Given the description of an element on the screen output the (x, y) to click on. 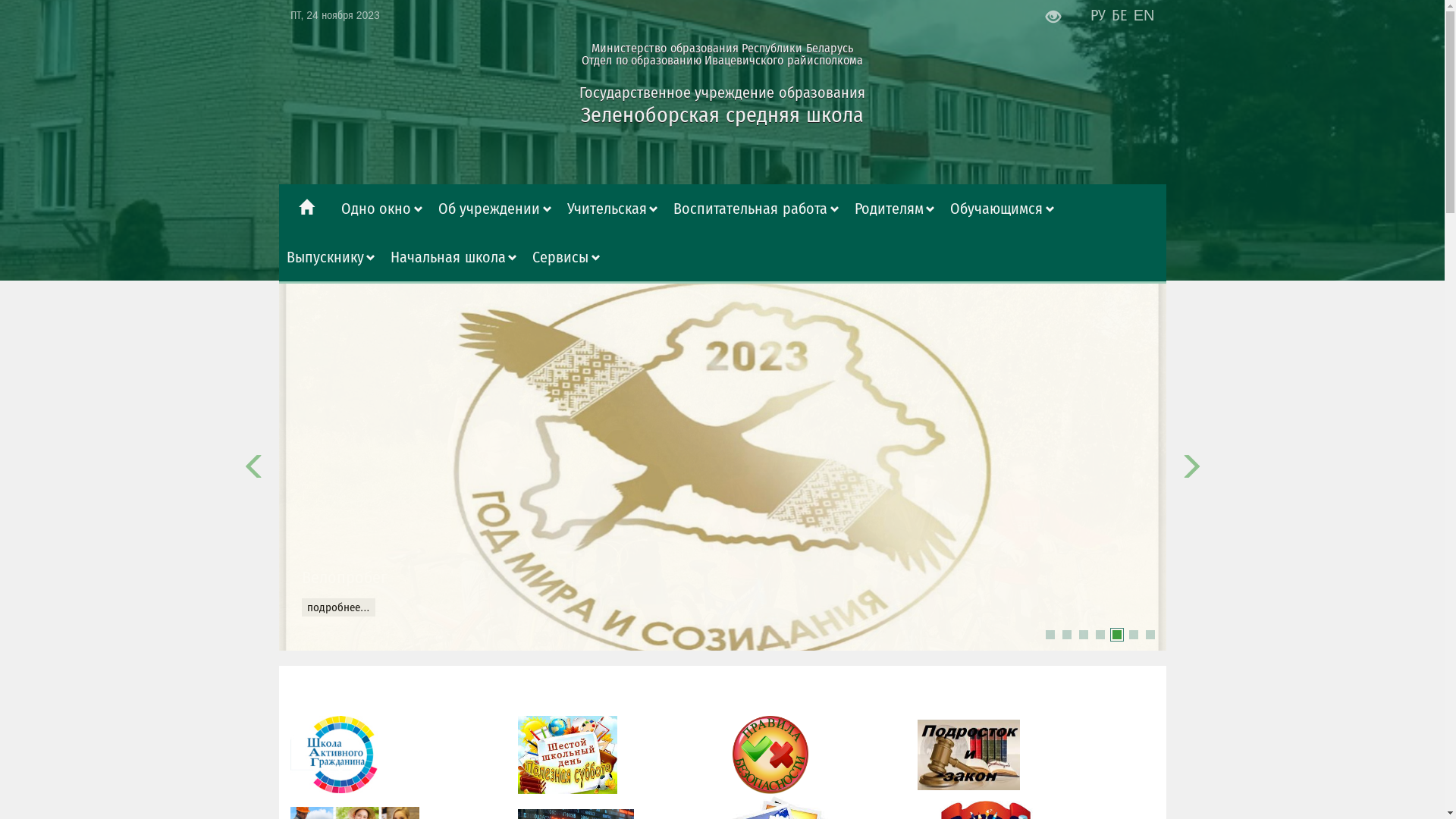
2 Element type: text (1065, 634)
7 Element type: text (1149, 634)
3 Element type: text (1082, 634)
1 Element type: text (1049, 634)
EN Element type: text (1143, 15)
6 Element type: text (1132, 634)
5 Element type: text (1115, 634)
4 Element type: text (1099, 634)
